Given the description of an element on the screen output the (x, y) to click on. 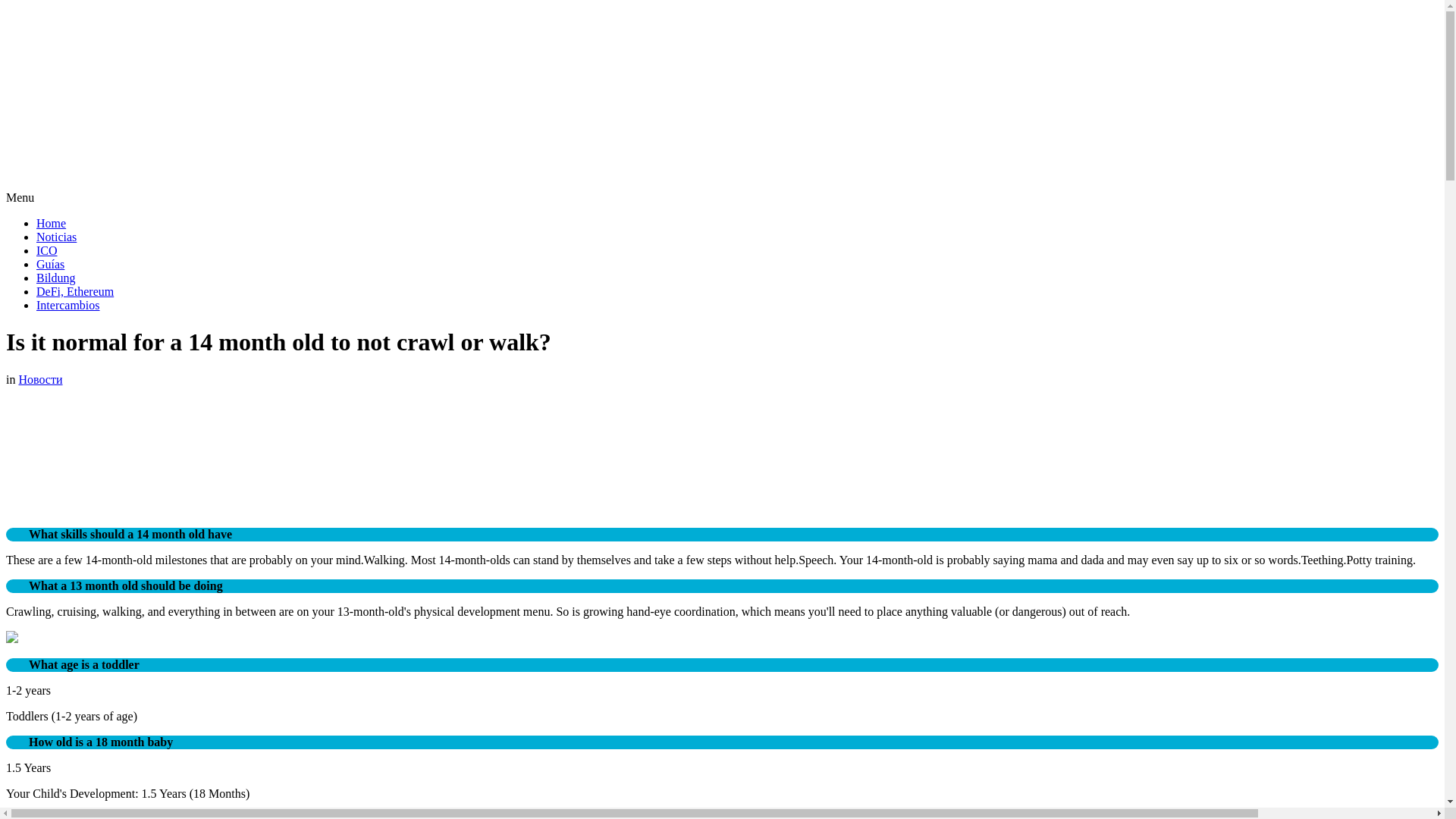
DeFi, Ethereum (74, 291)
Home (50, 223)
Bildung (55, 277)
Intercambios (68, 305)
Noticias (56, 236)
ICO (47, 250)
